Given the description of an element on the screen output the (x, y) to click on. 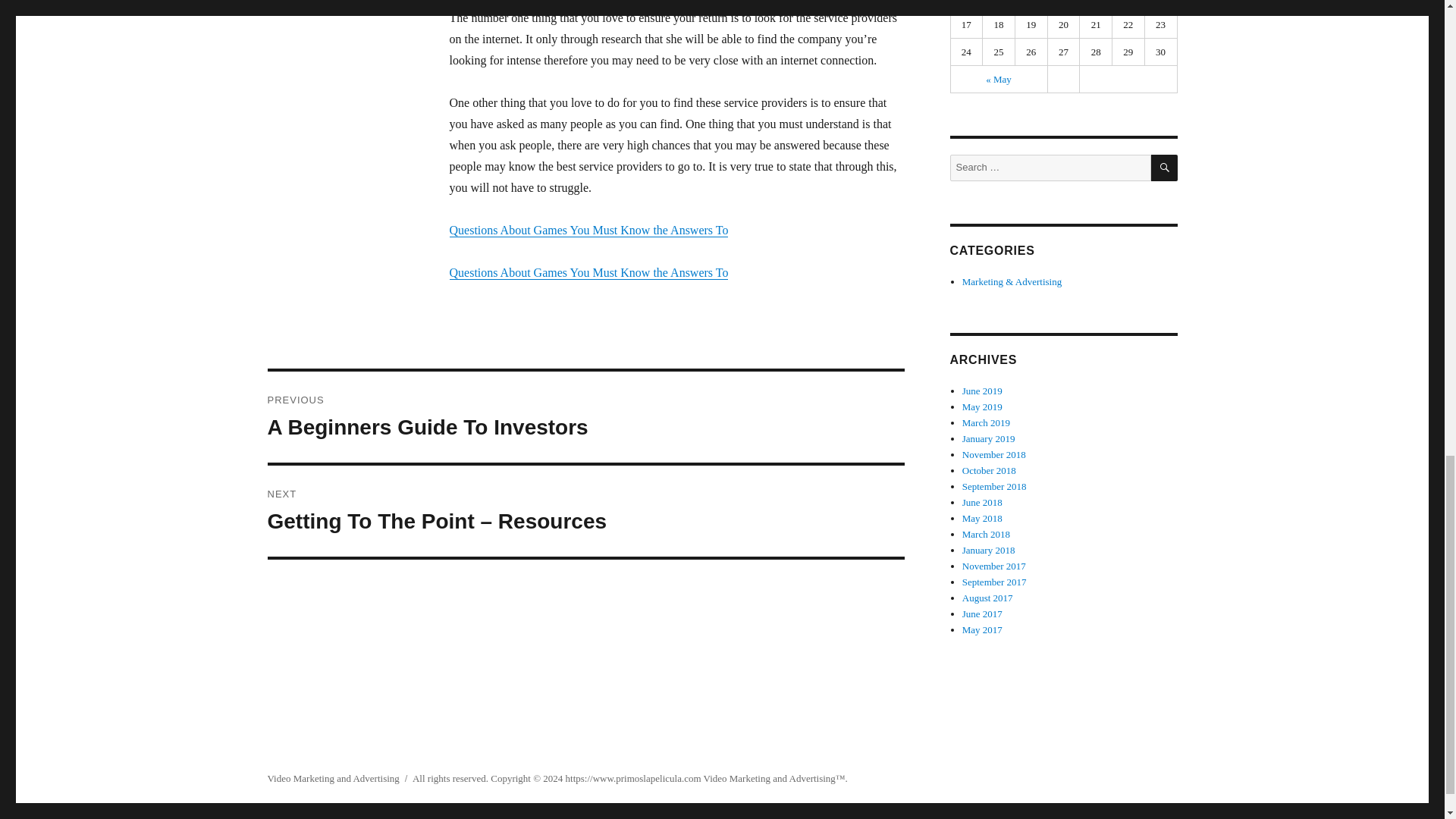
March 2018 (986, 533)
May 2017 (982, 629)
Questions About Games You Must Know the Answers To (588, 272)
September 2017 (994, 582)
November 2017 (994, 565)
August 2017 (987, 597)
March 2019 (986, 422)
November 2018 (994, 454)
September 2018 (994, 486)
October 2018 (989, 470)
